Given the description of an element on the screen output the (x, y) to click on. 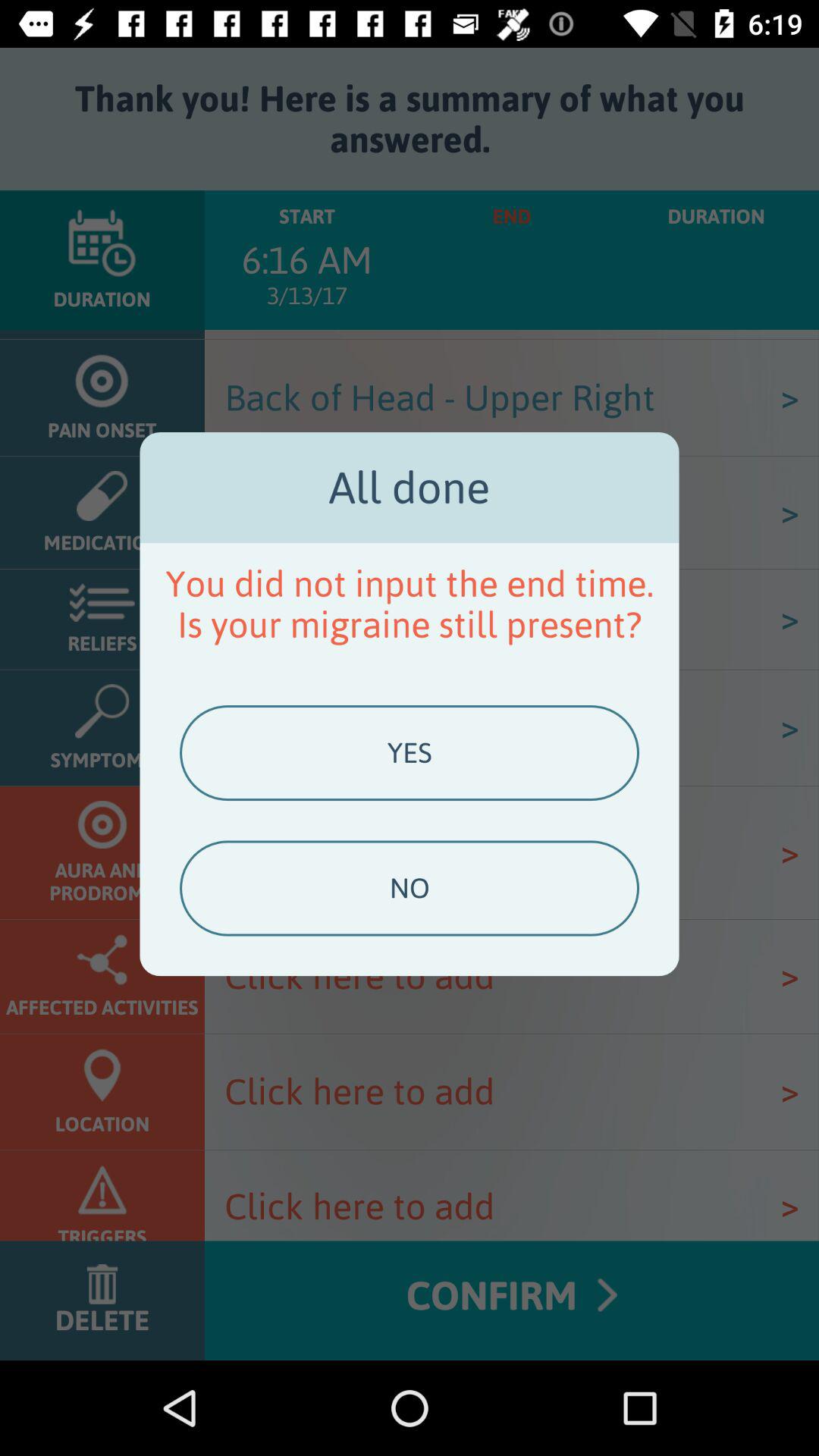
turn on icon above no item (409, 752)
